Given the description of an element on the screen output the (x, y) to click on. 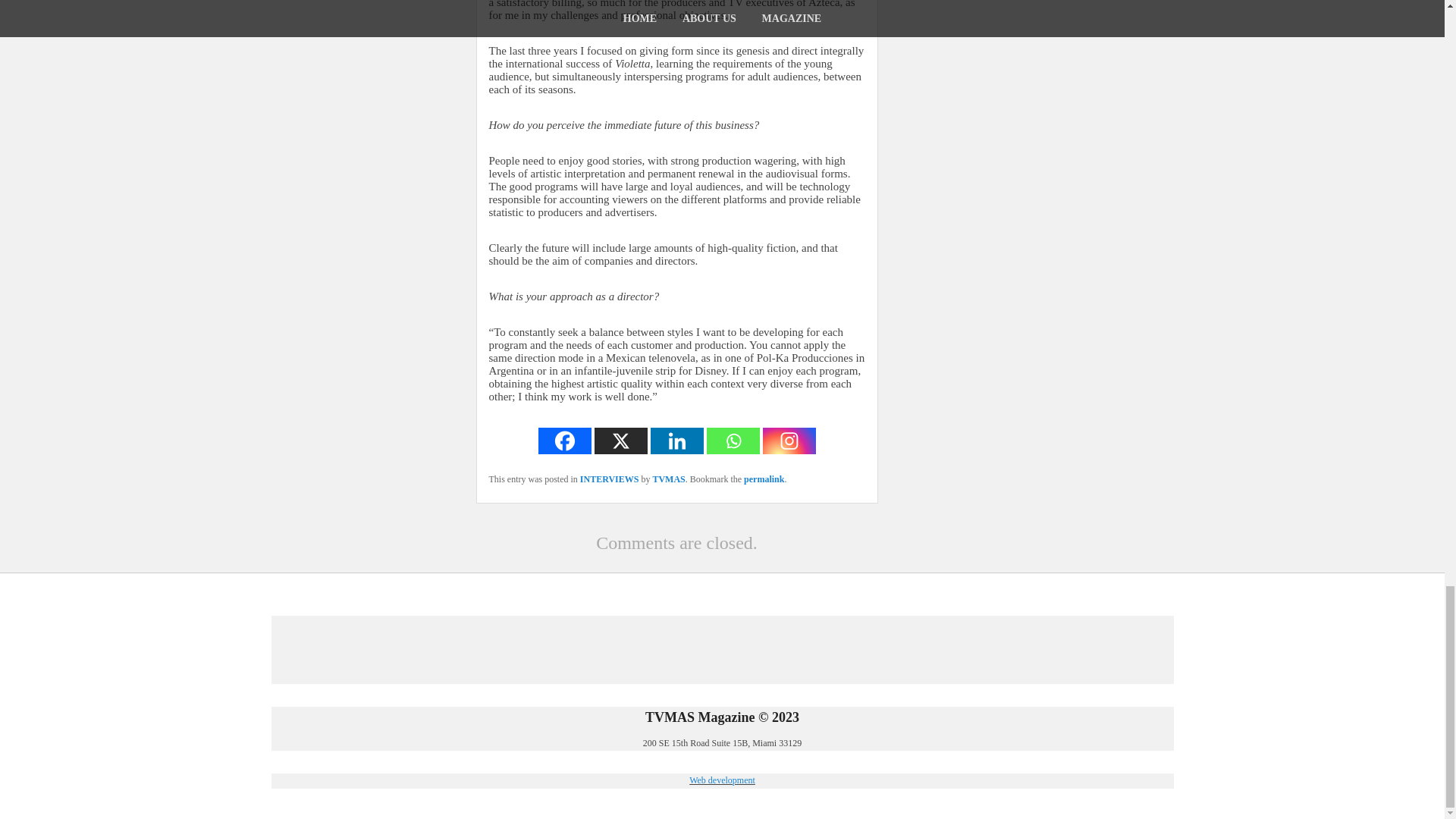
Instagram (788, 440)
Permalink to Martin Saban interviewed by TVMAS (764, 479)
Facebook (564, 440)
Linkedin (676, 440)
X (620, 440)
Whatsapp (733, 440)
